Given the description of an element on the screen output the (x, y) to click on. 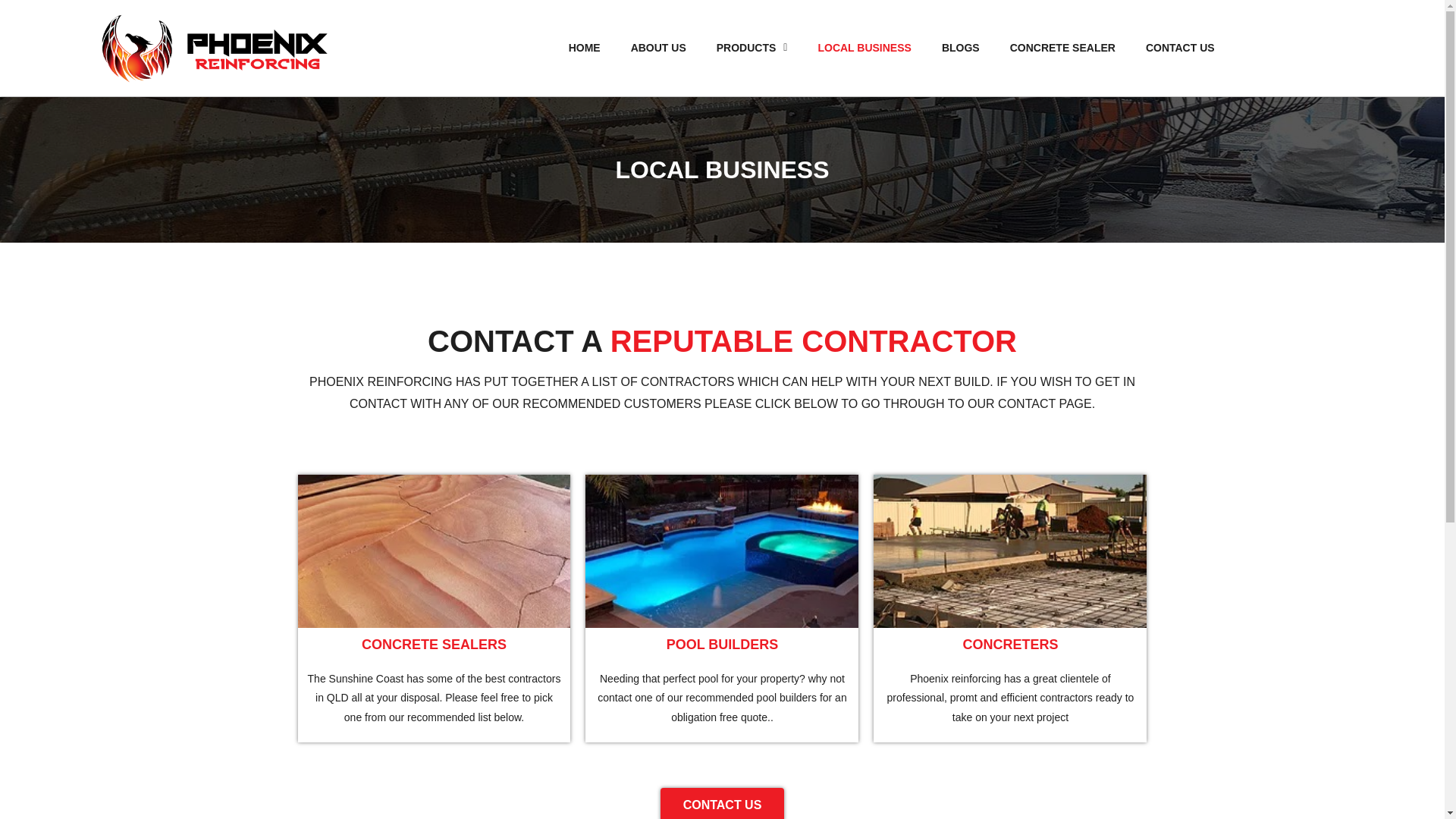
CONCRETE SEALER (1062, 47)
CONTACT US (1180, 47)
BLOGS (960, 47)
LOCAL BUSINESS (864, 47)
ABOUT US (658, 47)
PRODUCTS (752, 47)
HOME (584, 47)
CONTACT US (722, 803)
